Given the description of an element on the screen output the (x, y) to click on. 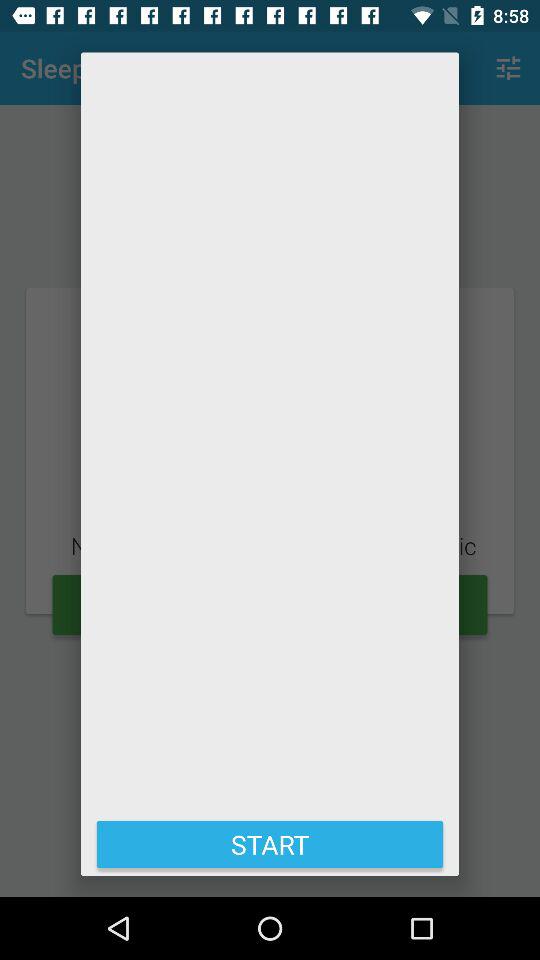
click start item (269, 844)
